Given the description of an element on the screen output the (x, y) to click on. 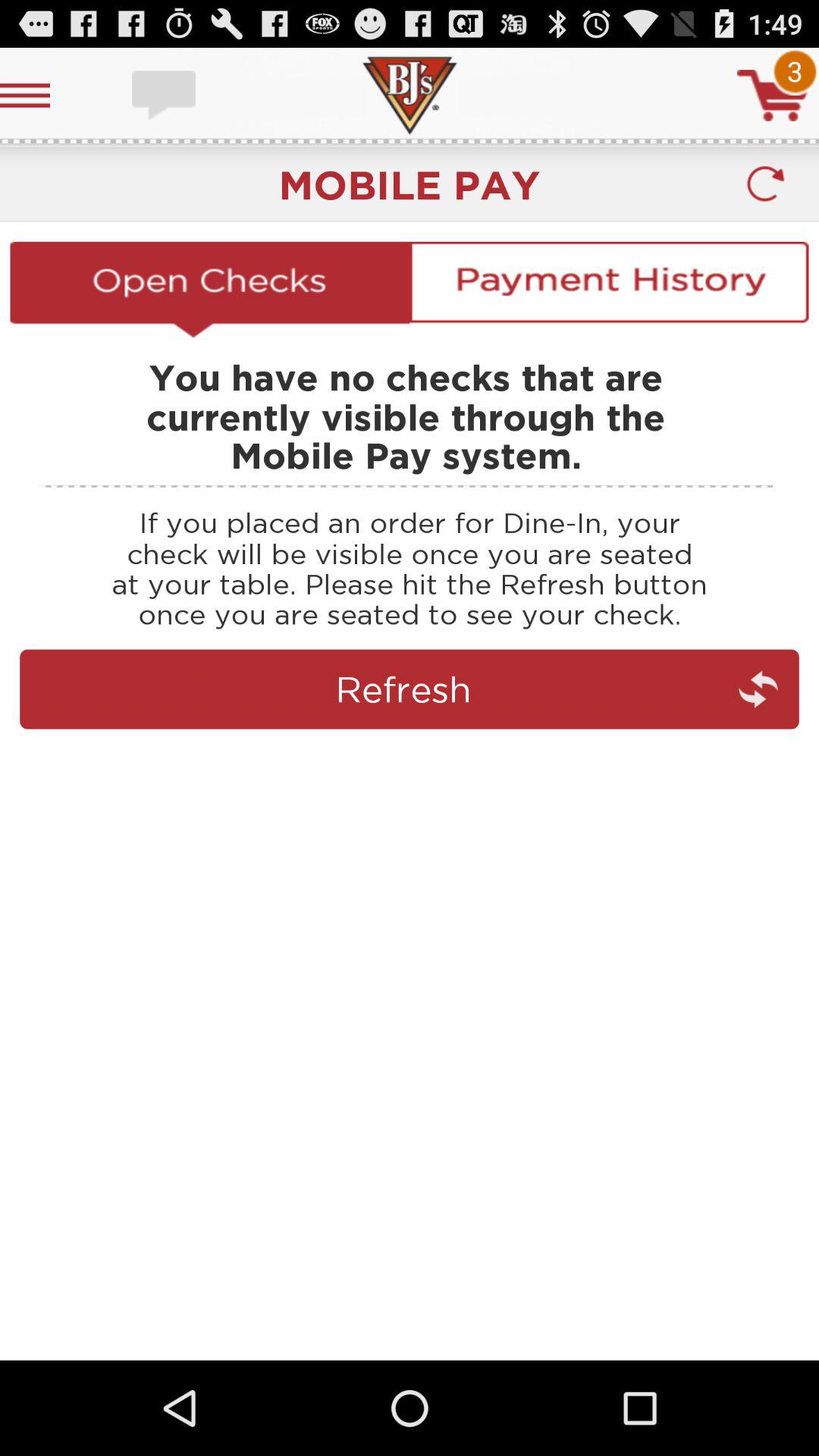
open checks option (209, 289)
